Given the description of an element on the screen output the (x, y) to click on. 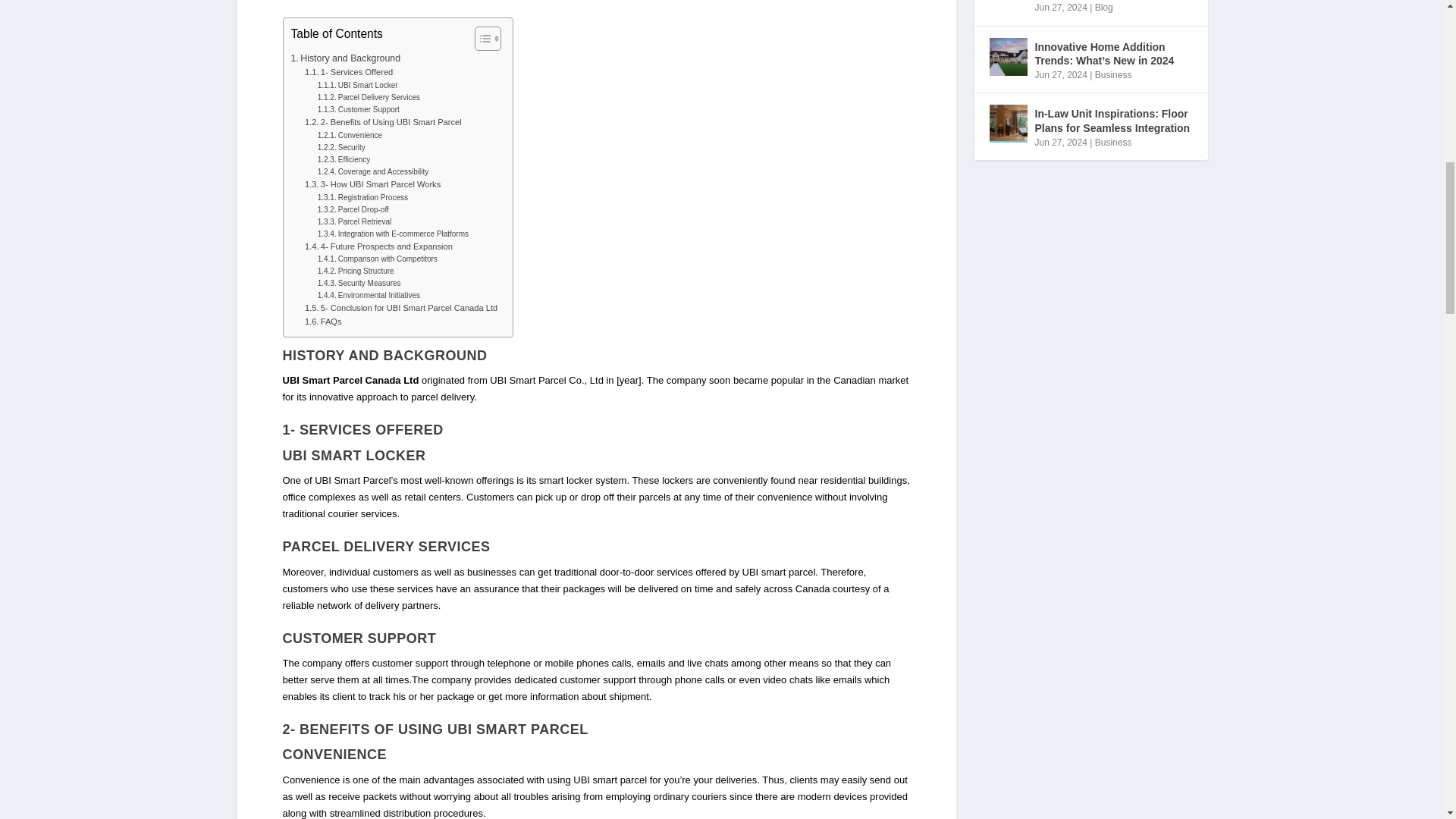
History and Background (346, 58)
2- Benefits of Using UBI Smart Parcel (382, 122)
UBI Smart Locker (357, 85)
Security (341, 147)
Efficiency (344, 159)
History and Background (346, 58)
1- Services Offered (348, 72)
Parcel Delivery Services (368, 97)
Coverage and Accessibility (373, 172)
Parcel Delivery Services (368, 97)
Convenience (349, 135)
Customer Support (357, 110)
UBI Smart Locker (357, 85)
1- Services Offered (348, 72)
Customer Support (357, 110)
